Given the description of an element on the screen output the (x, y) to click on. 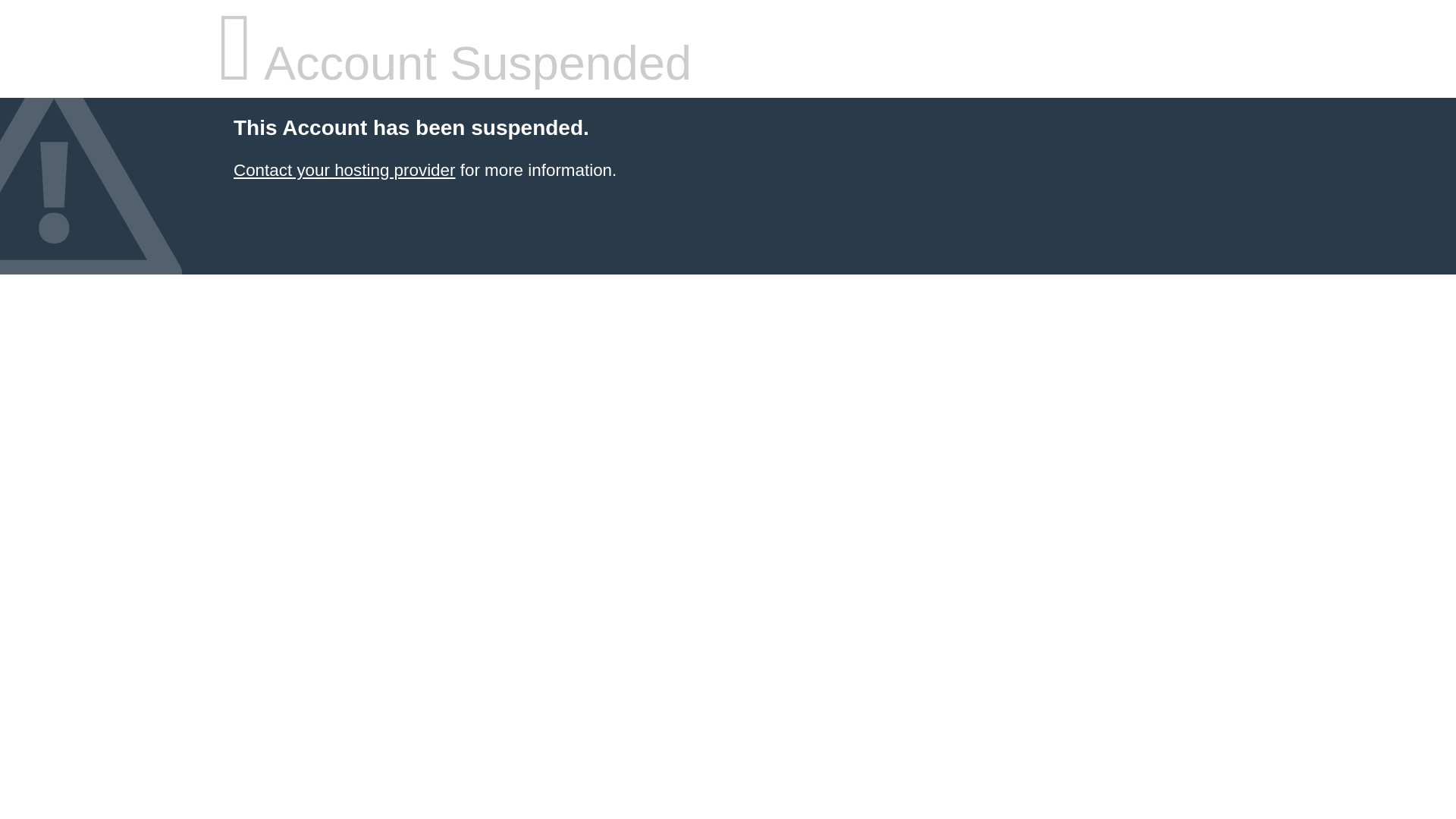
Contact your hosting provider (343, 169)
